Given the description of an element on the screen output the (x, y) to click on. 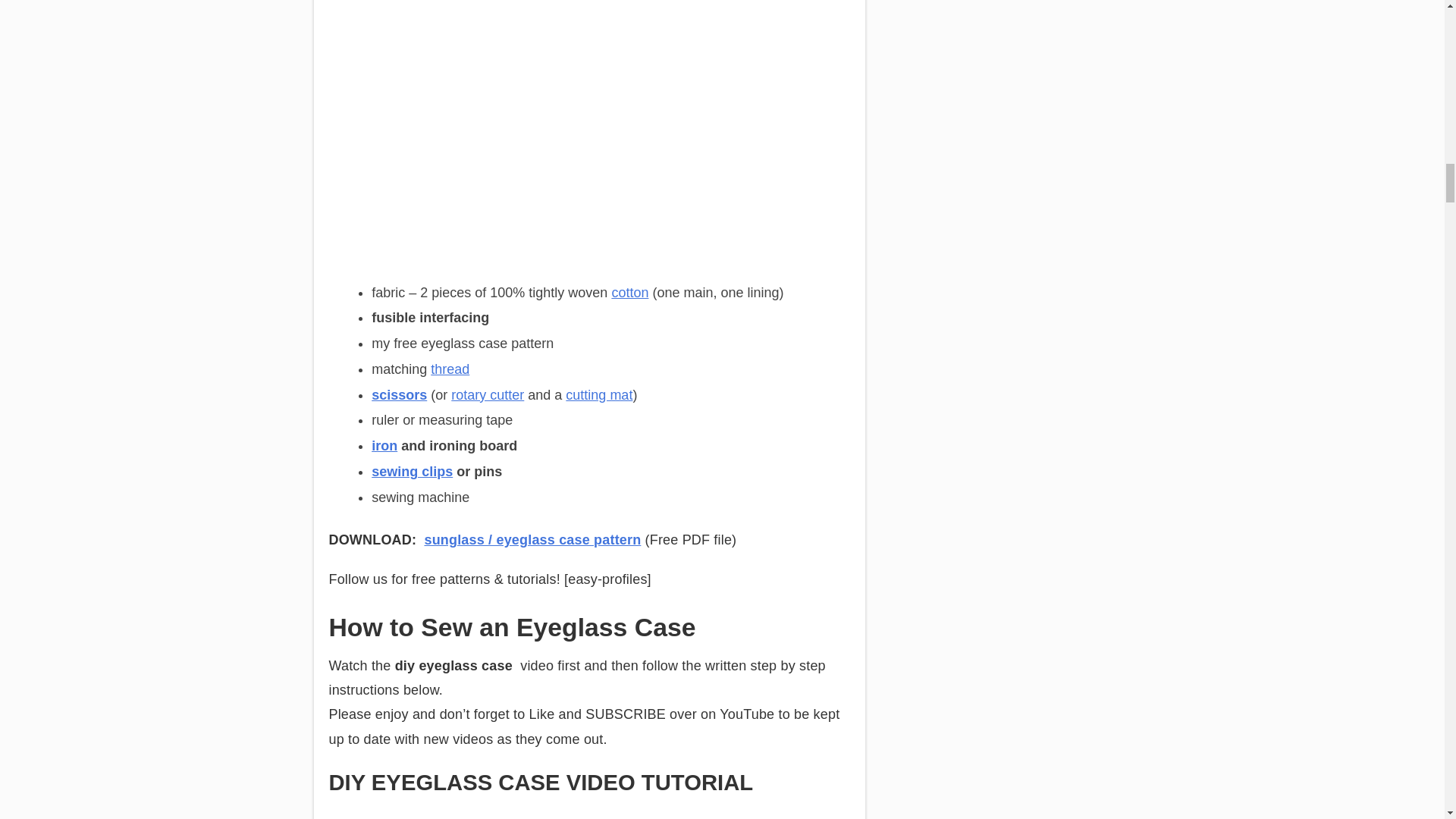
iron (384, 445)
scissors (398, 394)
cutting mat (598, 394)
rotary cutter (487, 394)
thread (449, 368)
sewing clips (411, 471)
